Given the description of an element on the screen output the (x, y) to click on. 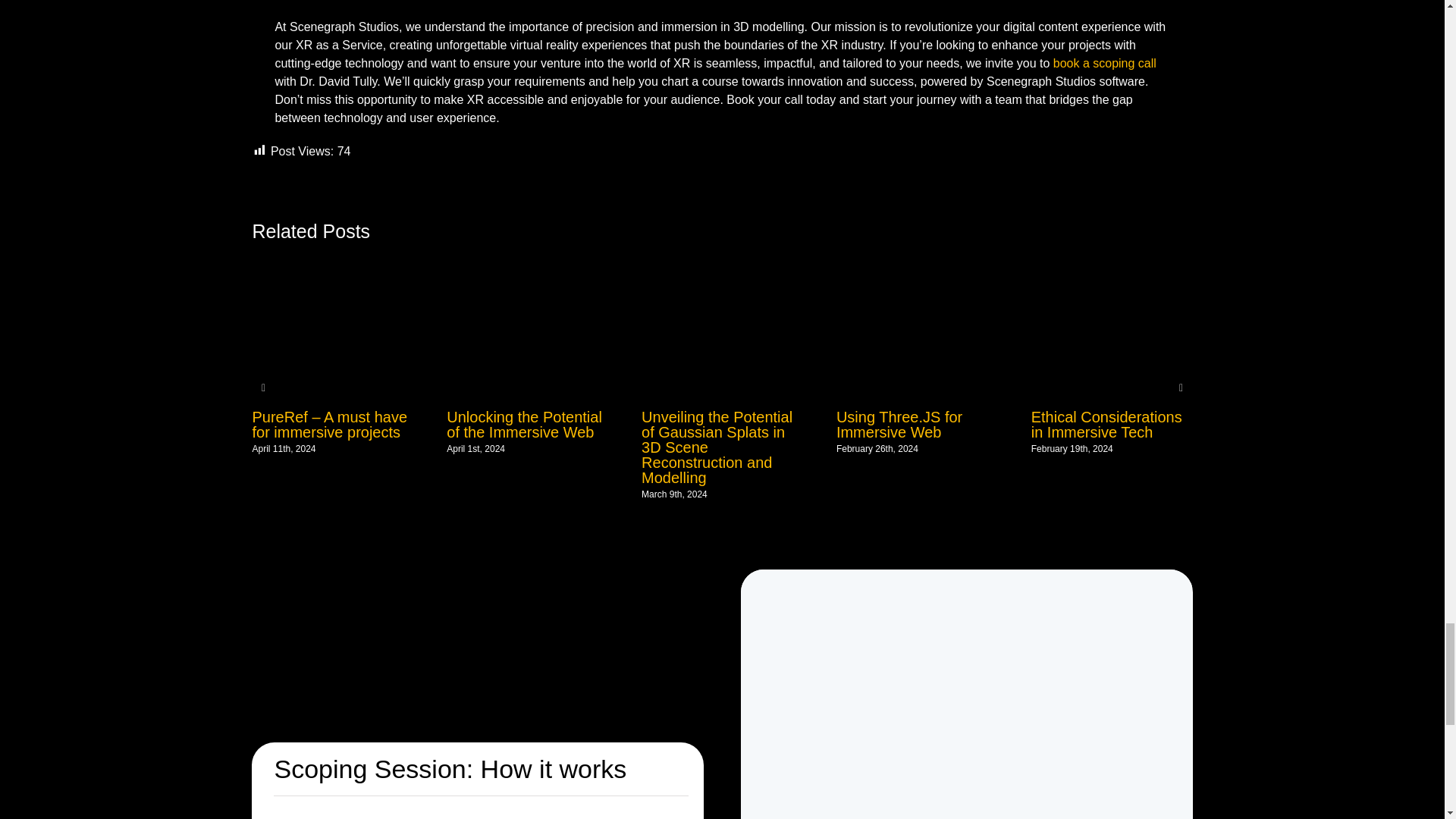
Using Three.JS for Immersive Web (898, 424)
Unlocking the Potential of the Immersive Web (524, 424)
Ethical Considerations in Immersive Tech (1106, 424)
